Given the description of an element on the screen output the (x, y) to click on. 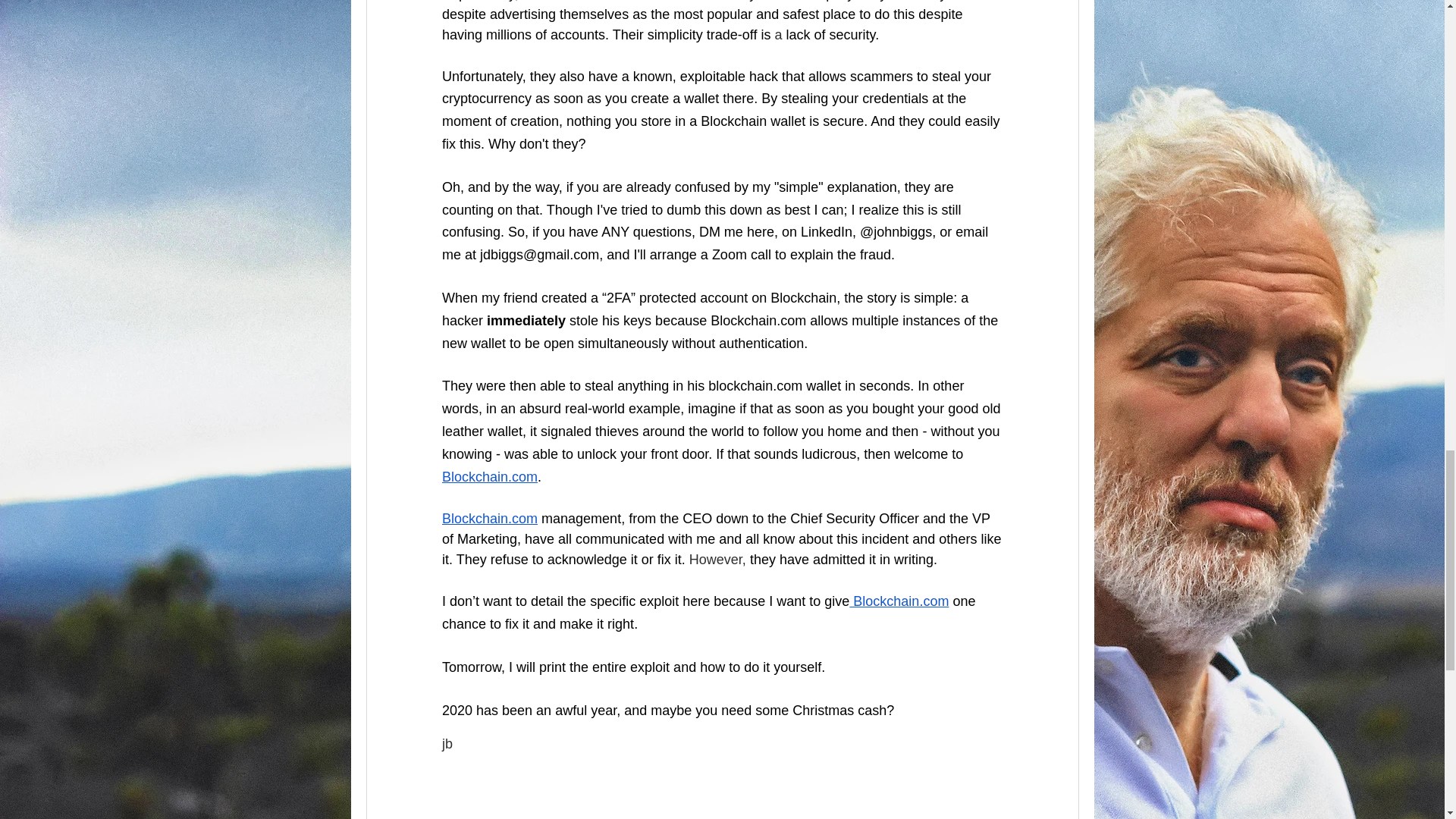
Blockchain.com (489, 518)
Blockchain.com (489, 476)
Blockchain.com (569, 0)
 Blockchain.com (898, 601)
